Given the description of an element on the screen output the (x, y) to click on. 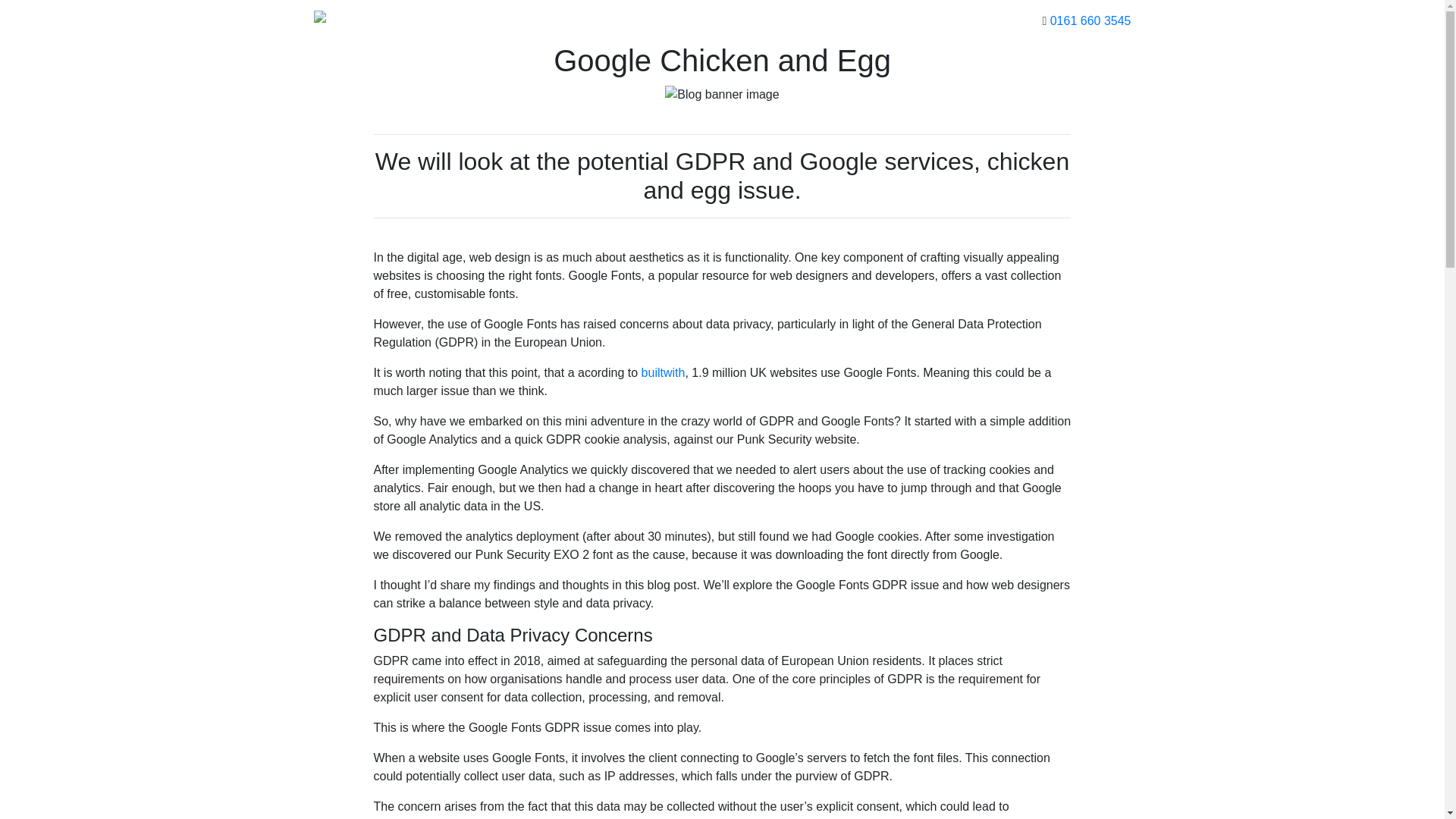
tools (647, 20)
blog (682, 20)
home (550, 20)
builtwith (663, 372)
Punk Security (415, 21)
events (725, 20)
services (600, 20)
about us (778, 20)
0161 660 3545 (1090, 20)
contact (833, 20)
